Given the description of an element on the screen output the (x, y) to click on. 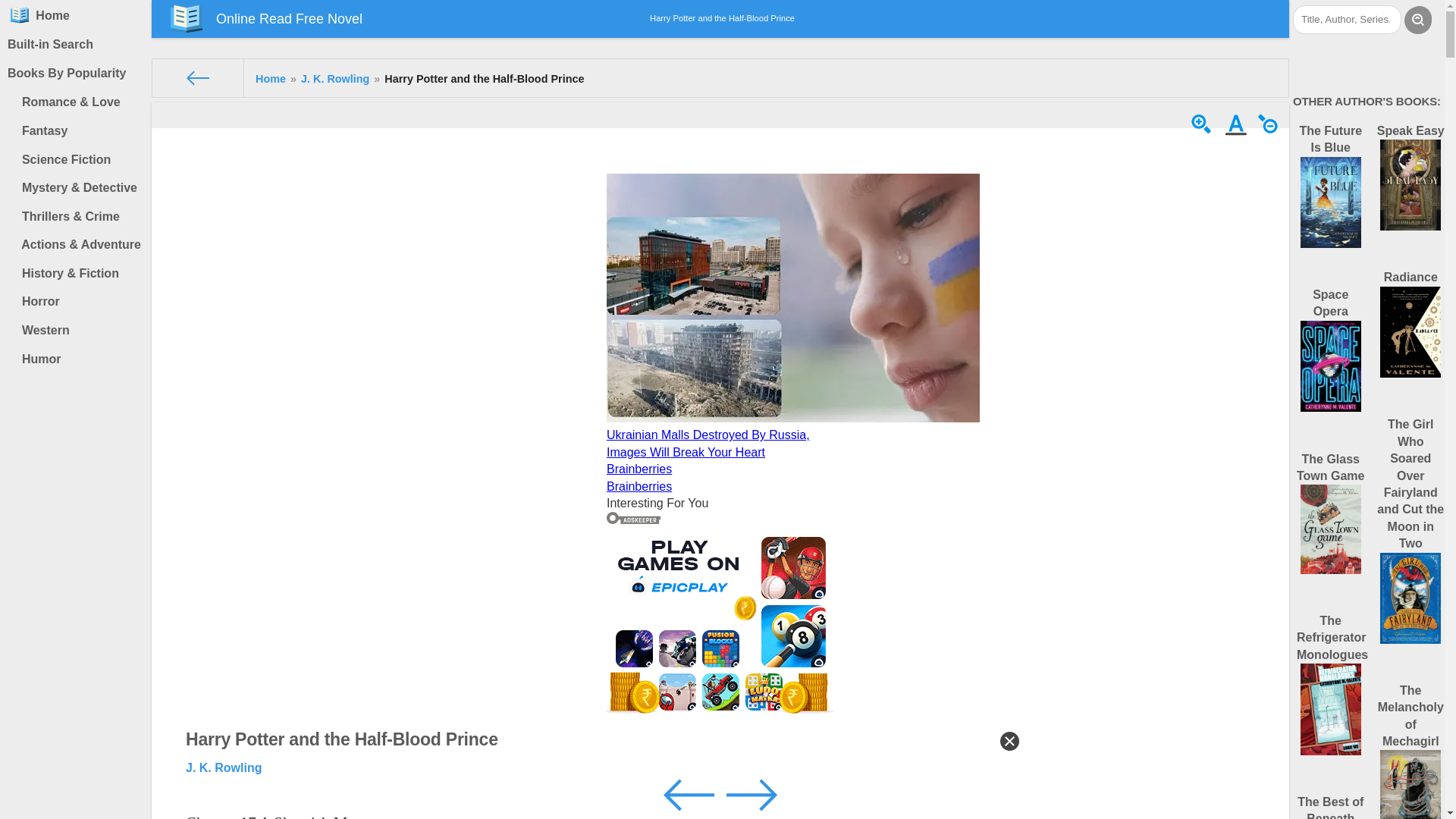
  Science Fiction (79, 159)
Previous Page (690, 793)
Built-in Search (75, 44)
The Refrigerator Monologues (1332, 693)
   Home (75, 15)
Space Opera (1331, 359)
J. K. Rowling (335, 78)
  Western (79, 330)
The Glass Town Game (1331, 522)
Homepage (19, 14)
Space Opera (1331, 359)
Smaller Font (1271, 131)
  Fantasy (79, 131)
